Given the description of an element on the screen output the (x, y) to click on. 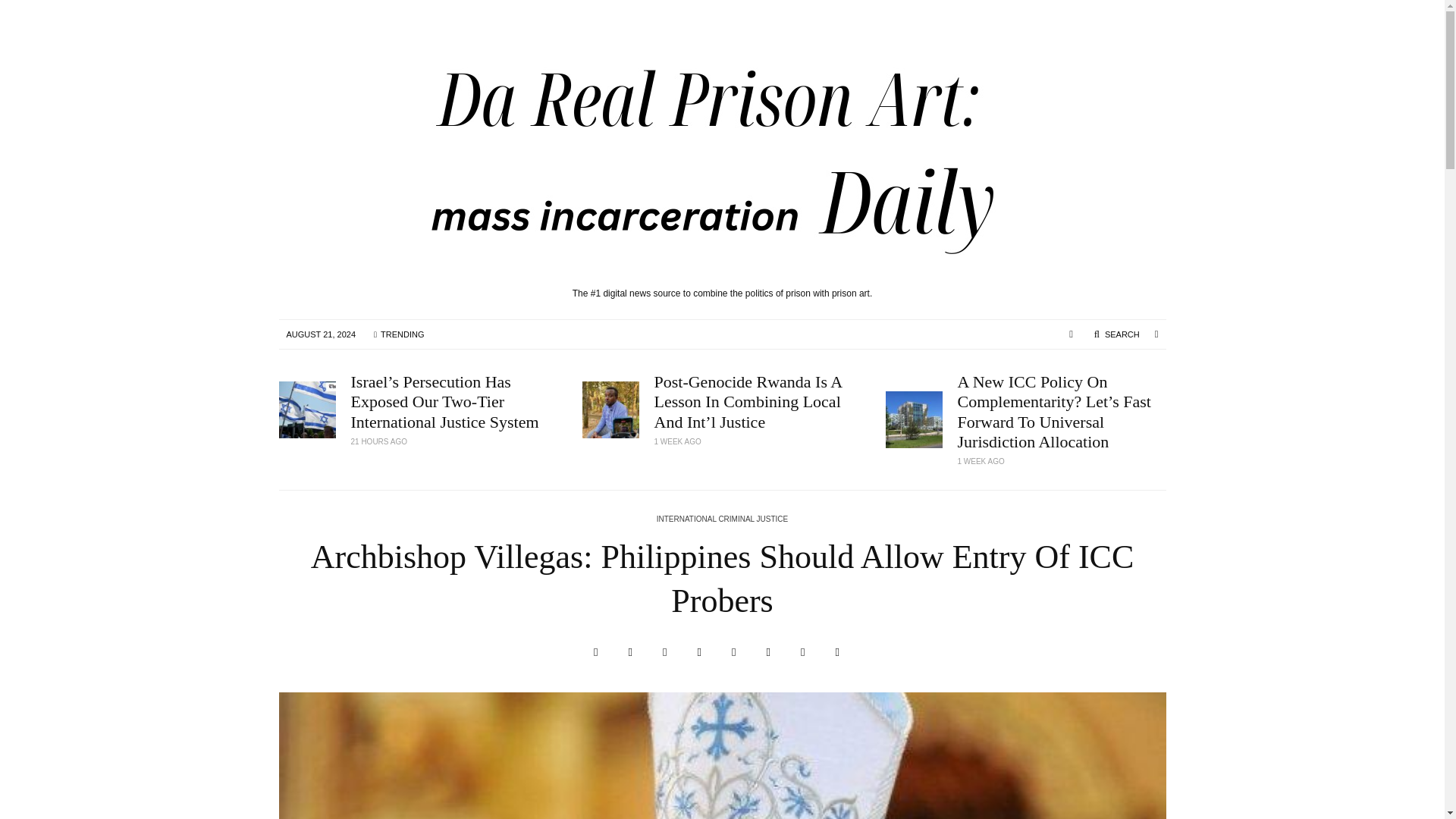
INTERNATIONAL CRIMINAL JUSTICE (722, 519)
TRENDING (397, 334)
SEARCH (1116, 333)
